Given the description of an element on the screen output the (x, y) to click on. 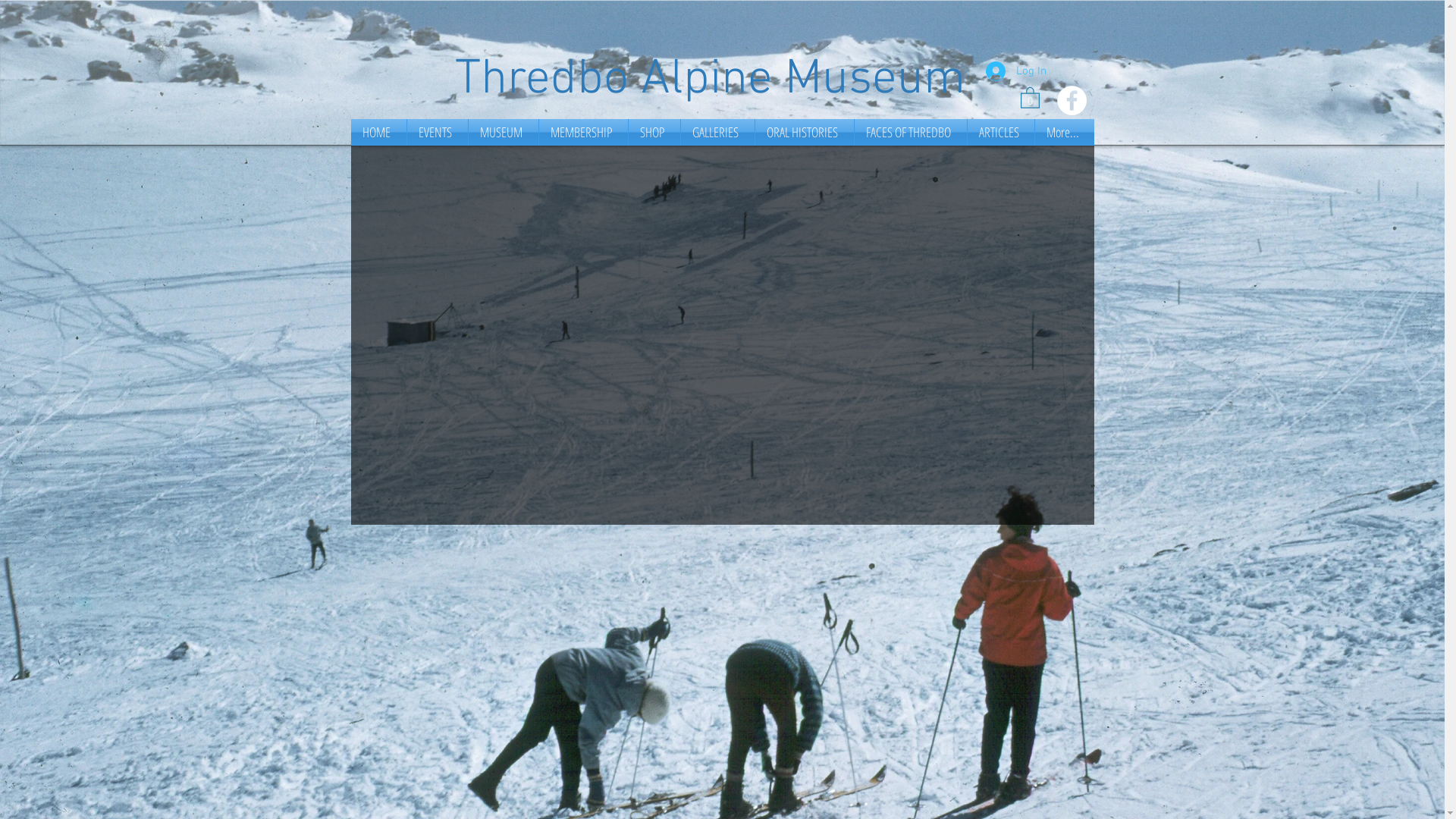
SHOP Element type: text (653, 132)
MUSEUM Element type: text (503, 132)
FACES OF THREDBO Element type: text (909, 132)
EVENTS Element type: text (436, 132)
Log In Element type: text (1016, 70)
HOME Element type: text (377, 132)
GALLERIES Element type: text (717, 132)
0 Element type: text (1029, 96)
ARTICLES Element type: text (1000, 132)
MEMBERSHIP Element type: text (582, 132)
ORAL HISTORIES Element type: text (804, 132)
